Given the description of an element on the screen output the (x, y) to click on. 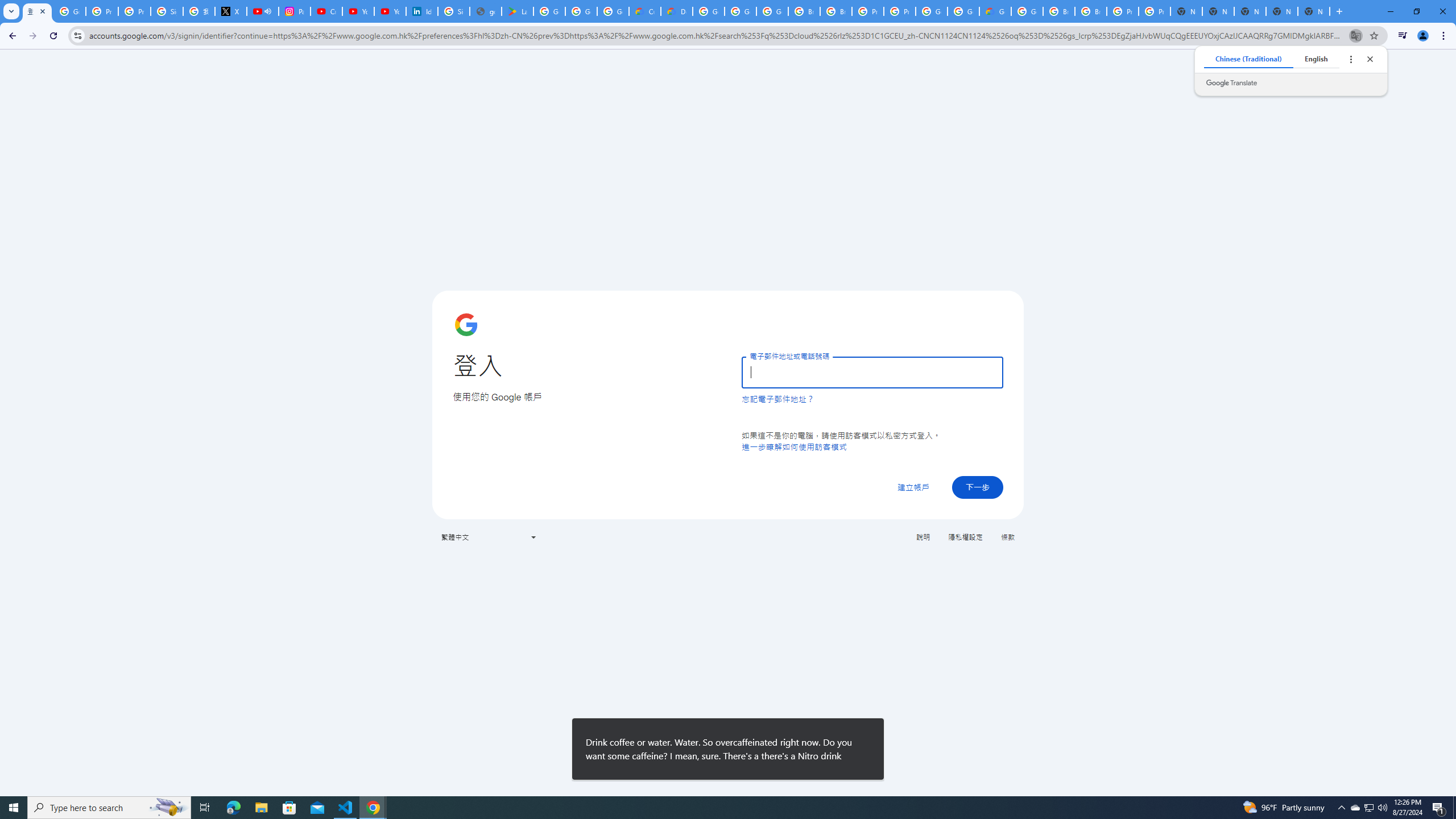
Browse Chrome as a guest - Computer - Google Chrome Help (1059, 11)
Mute tab (267, 10)
X (230, 11)
Chinese (Traditional) (1248, 58)
